Given the description of an element on the screen output the (x, y) to click on. 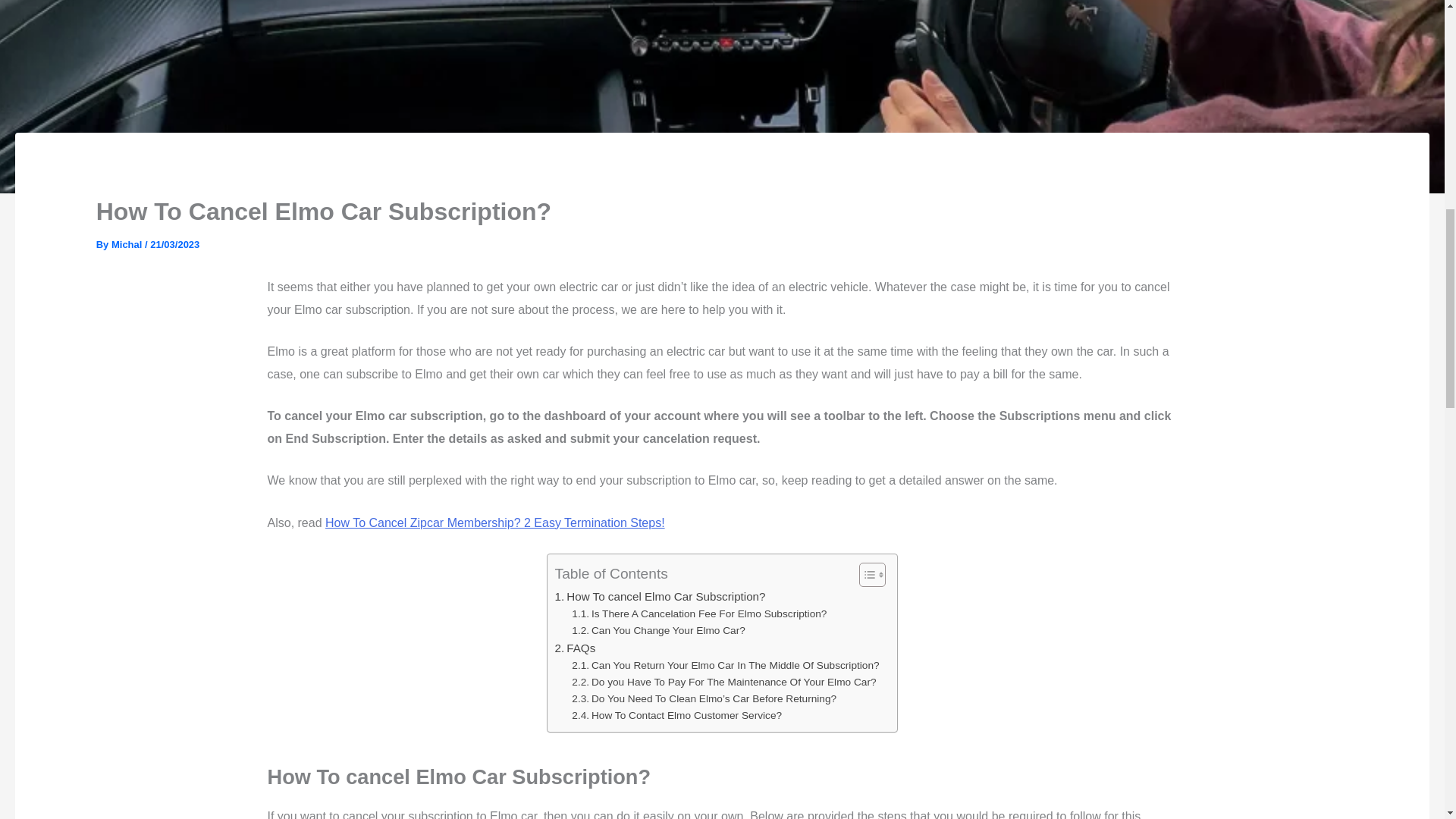
How To cancel Elmo Car Subscription? (659, 597)
Can You Change Your Elmo Car? (658, 630)
Do you Have To Pay For The Maintenance Of Your Elmo Car? (724, 682)
FAQs (574, 648)
Is There A Cancelation Fee For Elmo Subscription? (699, 614)
Do you Have To Pay For The Maintenance Of Your Elmo Car? (724, 682)
How To cancel Elmo Car Subscription? (659, 597)
Michal (128, 244)
Can You Change Your Elmo Car? (658, 630)
